Given the description of an element on the screen output the (x, y) to click on. 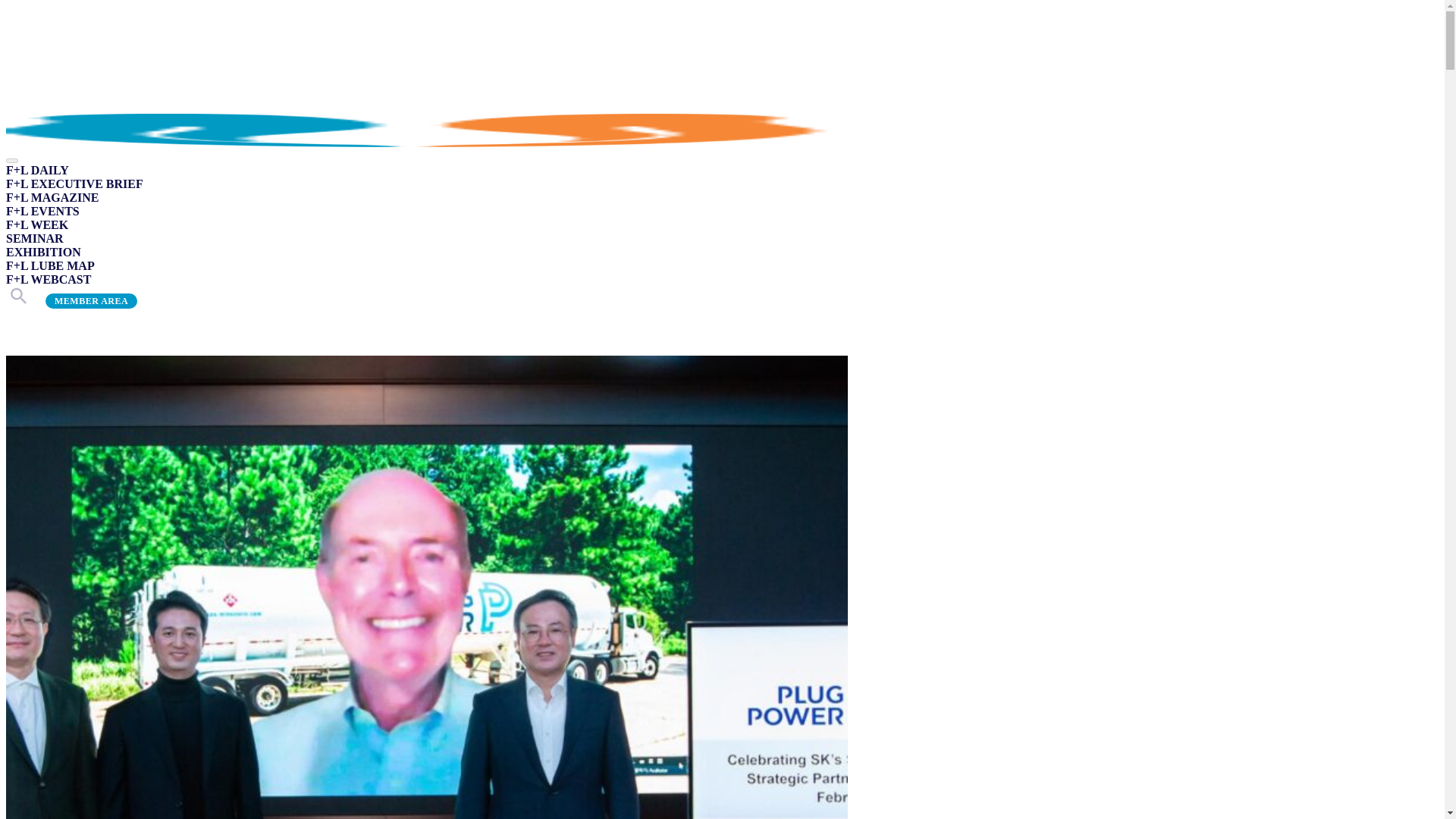
MEMBER AREA (74, 258)
EXHIBITION (43, 215)
SEMINAR (34, 201)
